Given the description of an element on the screen output the (x, y) to click on. 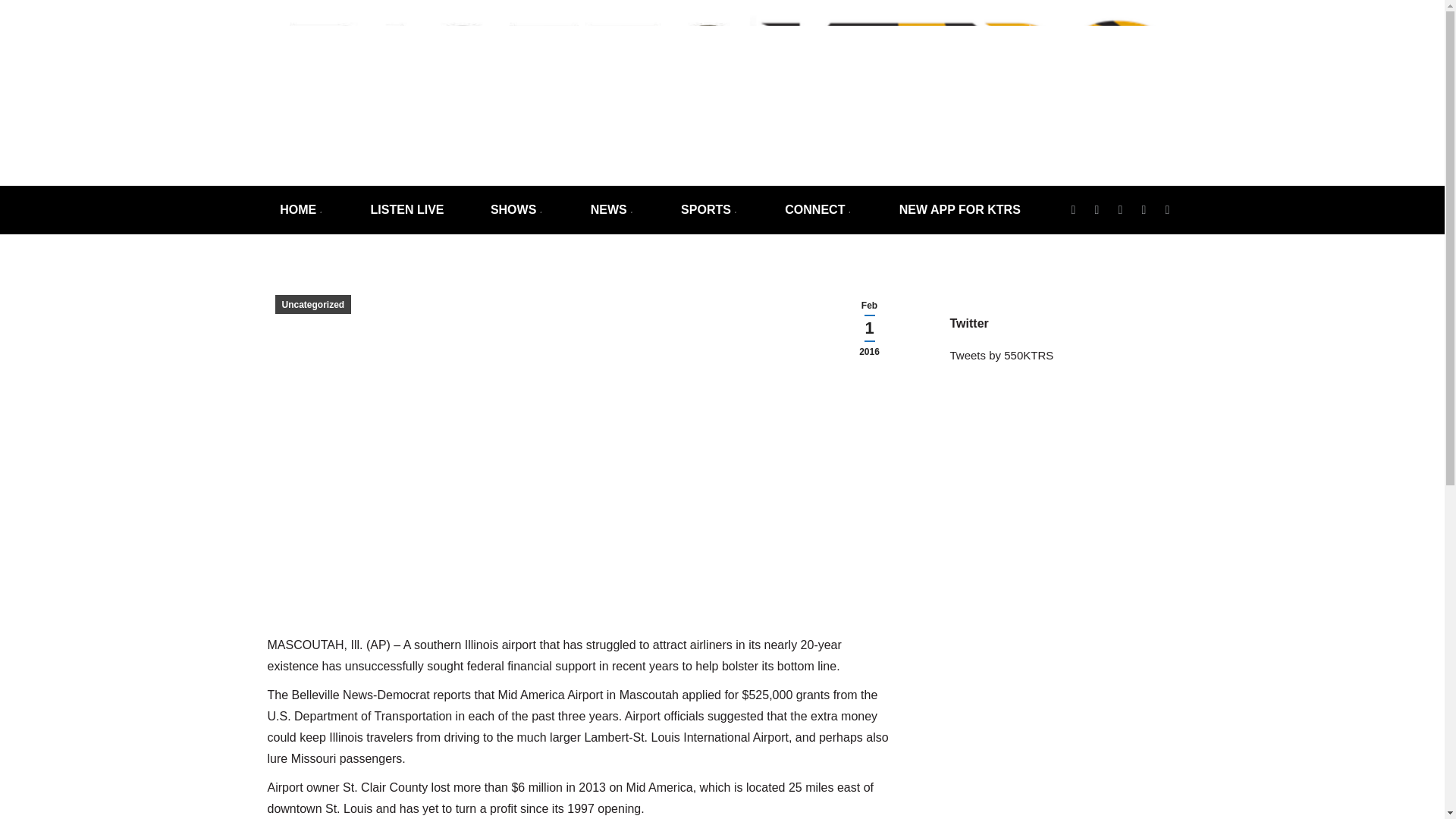
SHOWS (516, 209)
HOME (301, 209)
YouTube (1166, 209)
Facebook (1096, 209)
LISTEN LIVE (407, 209)
Instagram (1119, 209)
Twitter (1072, 209)
SoundCloud (1144, 209)
